Given the description of an element on the screen output the (x, y) to click on. 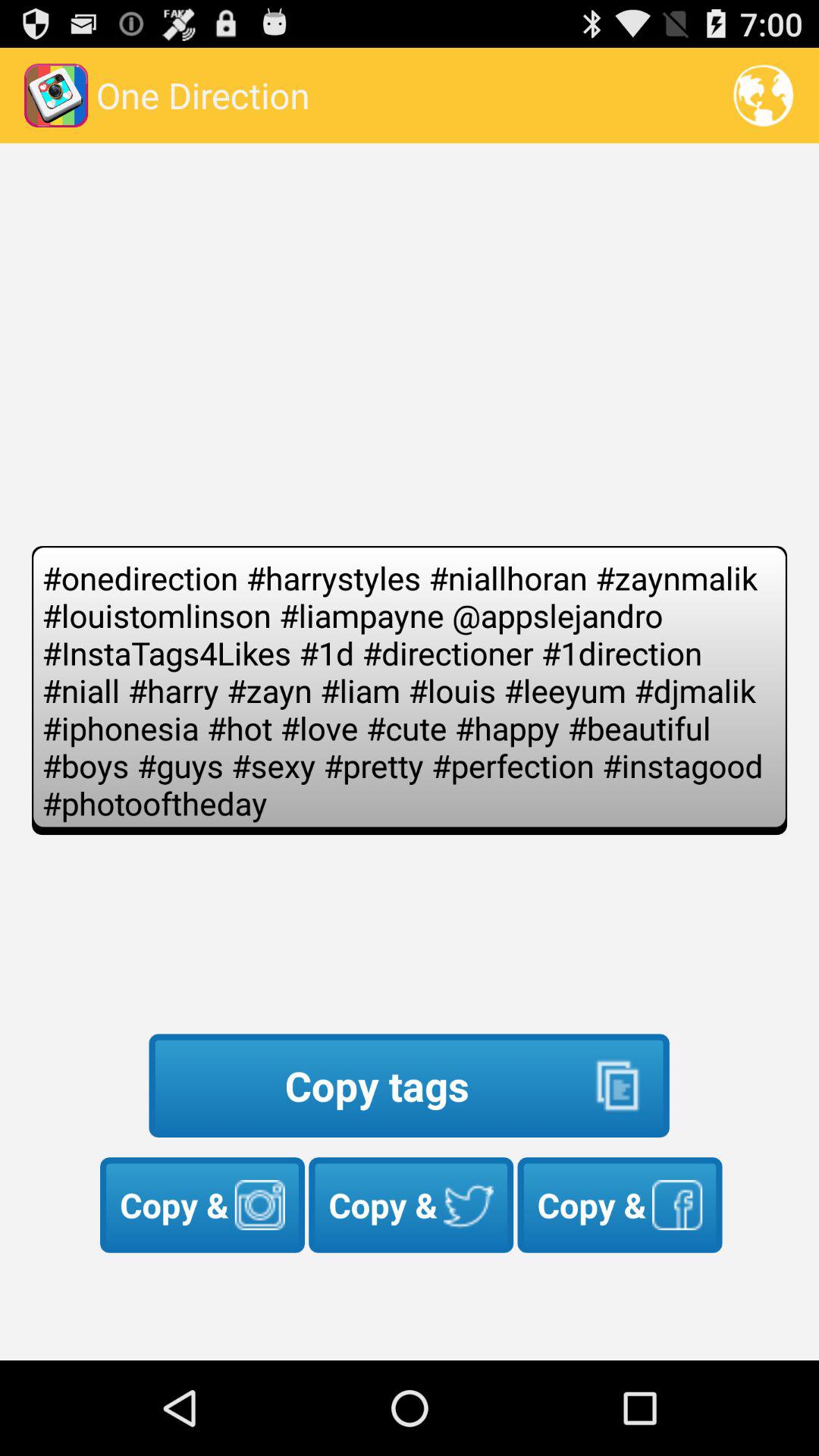
choose the icon next to one direction app (763, 95)
